Given the description of an element on the screen output the (x, y) to click on. 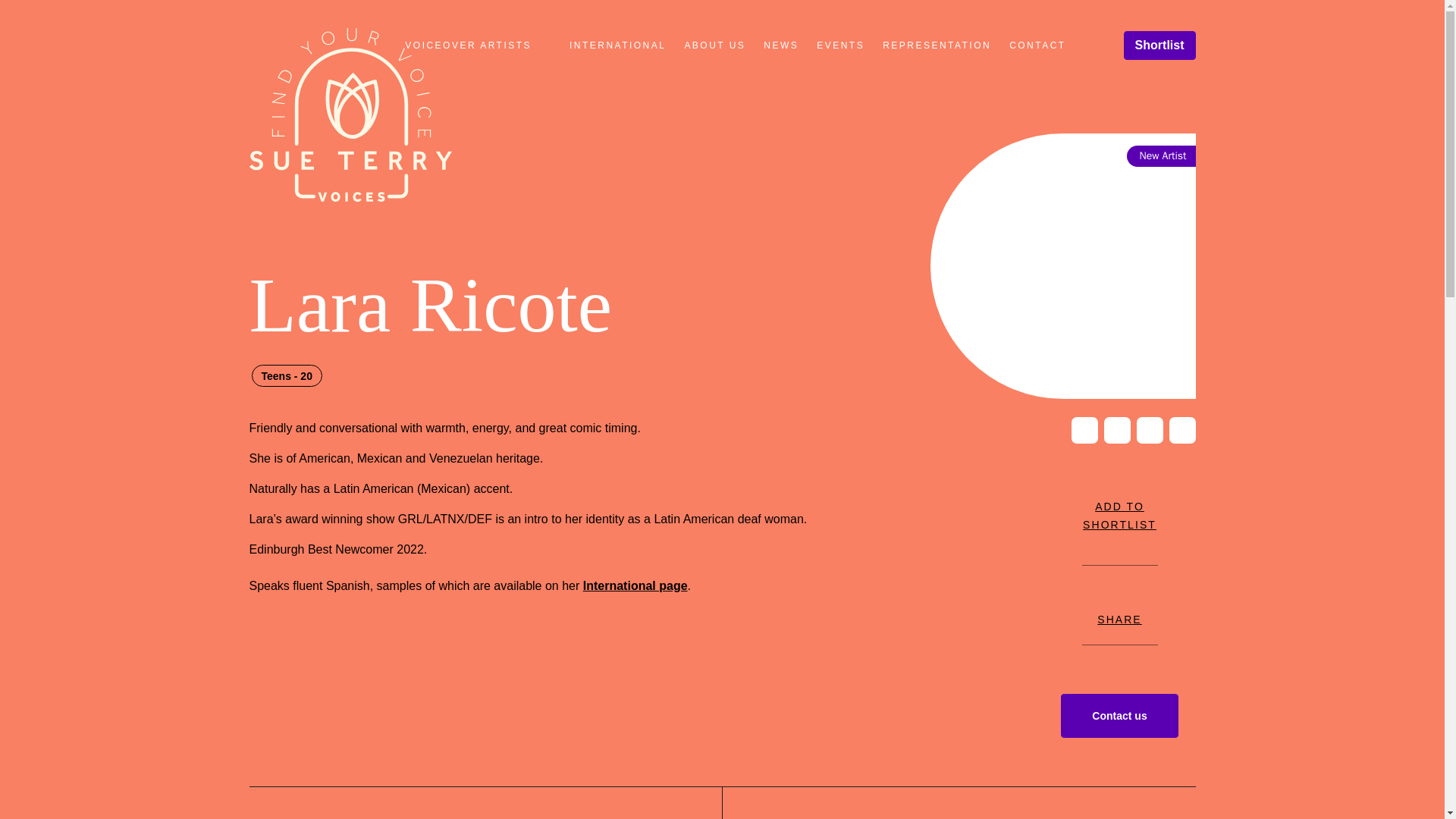
ABOUT US (1119, 504)
SHARE (714, 45)
INTERNATIONAL (1118, 608)
NEWS (617, 45)
International page (780, 45)
VOICEOVER ARTISTS (635, 585)
Teens - 20 (478, 45)
REPRESENTATION (286, 375)
EVENTS (936, 45)
